Given the description of an element on the screen output the (x, y) to click on. 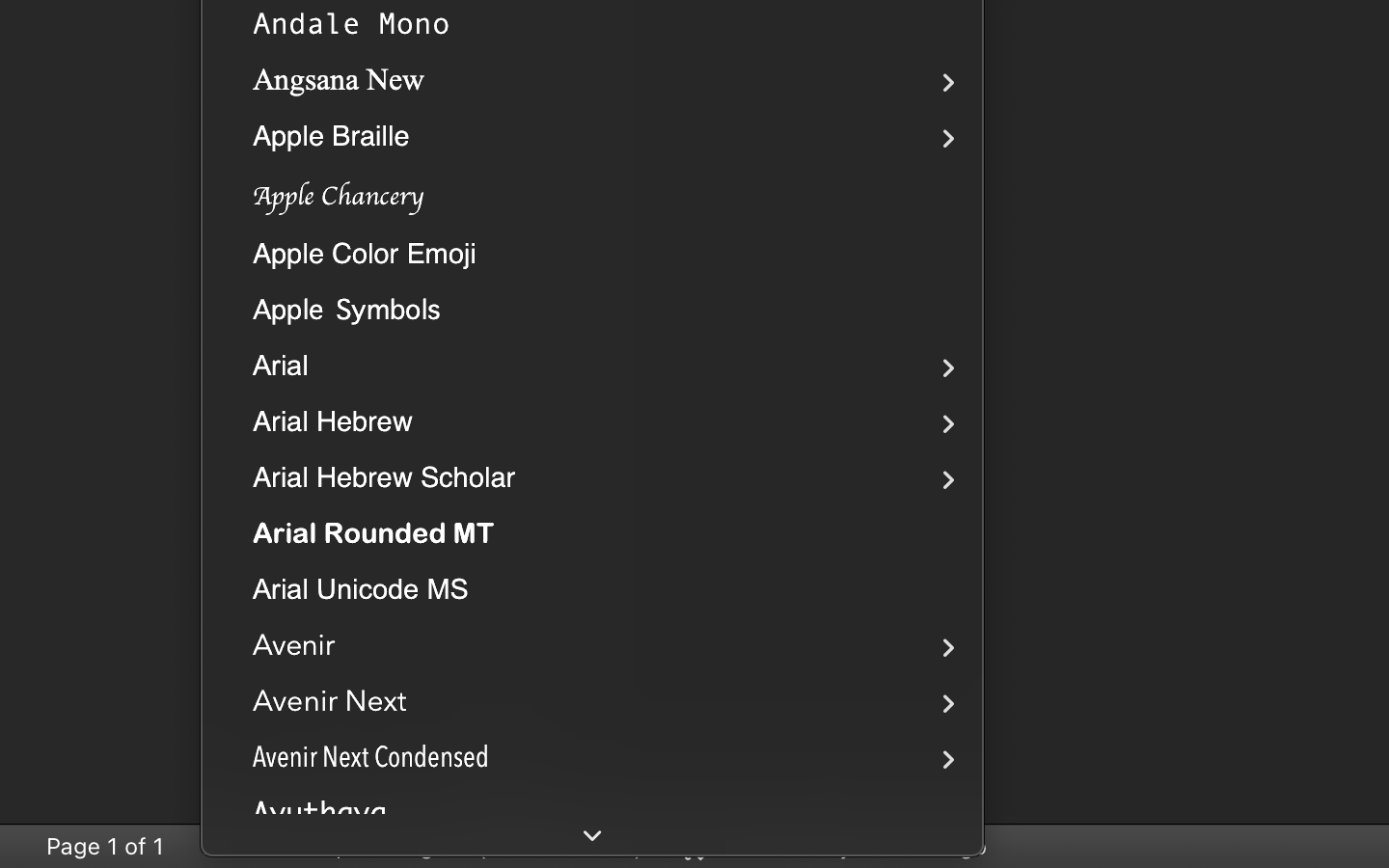
0 Element type: AXCheckBox (835, 845)
